Given the description of an element on the screen output the (x, y) to click on. 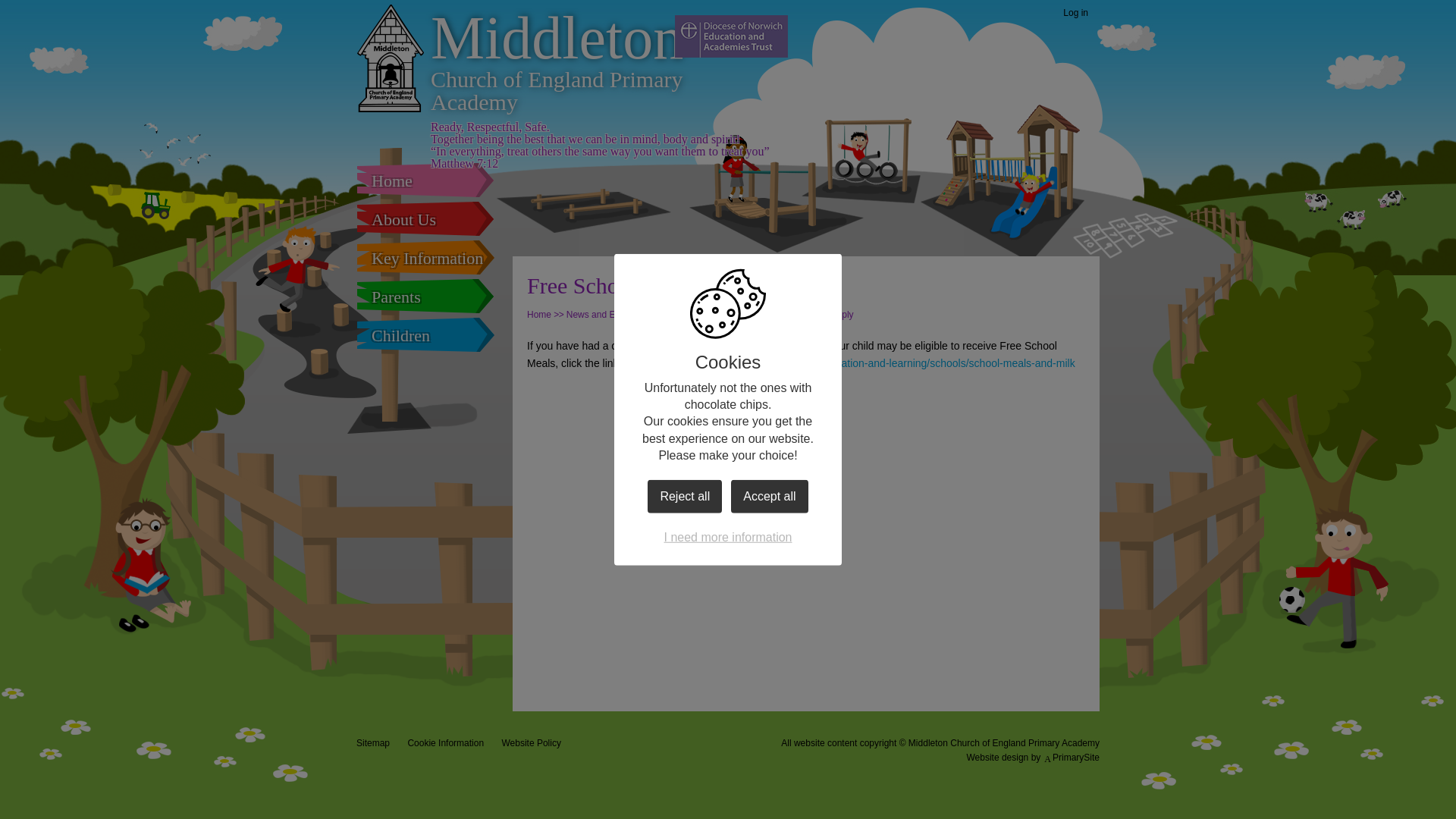
Log in (1075, 13)
Parents (424, 296)
Key Information (424, 257)
About Us (424, 218)
Home (424, 180)
